Given the description of an element on the screen output the (x, y) to click on. 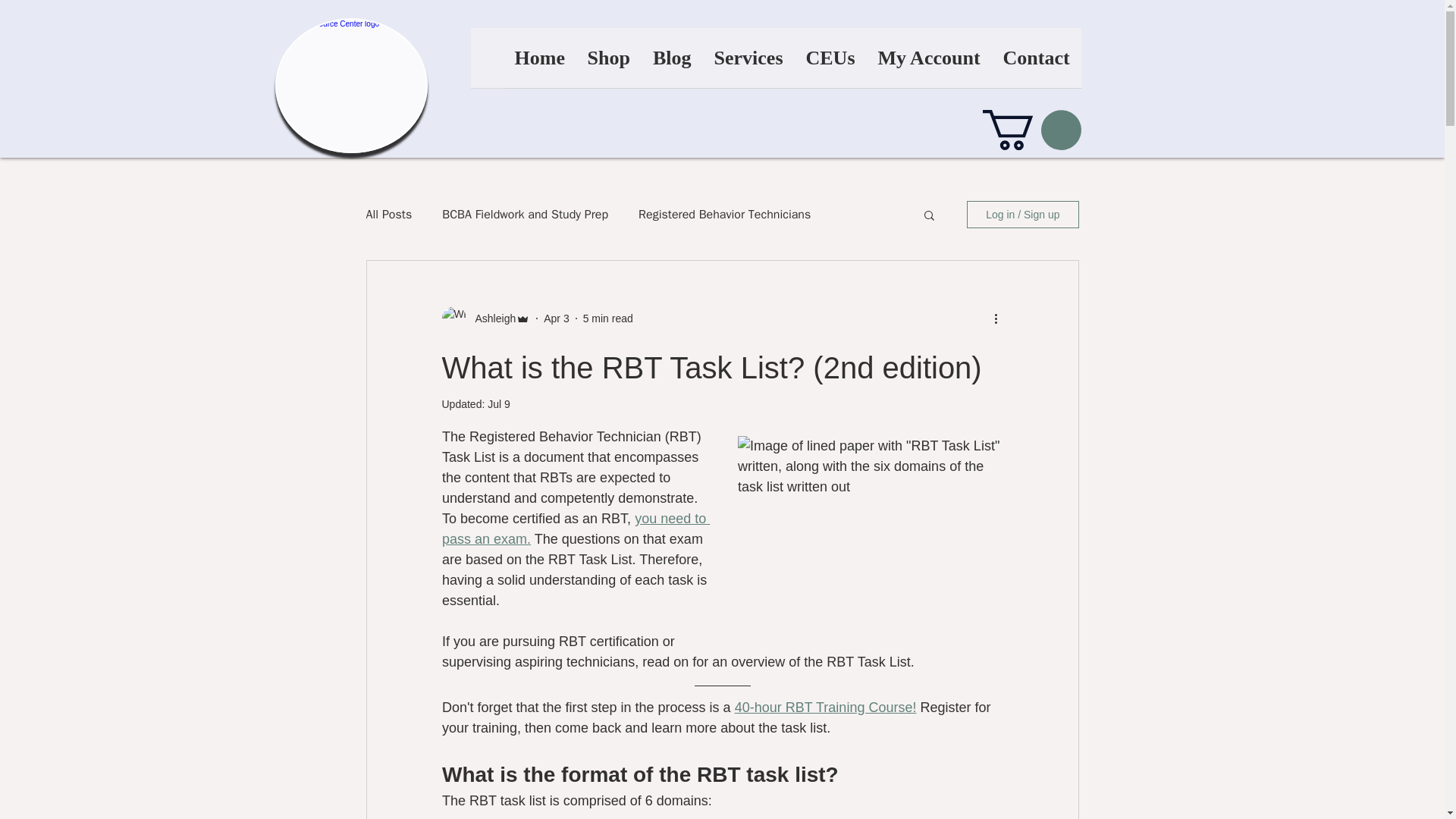
Services (747, 62)
My Account (928, 62)
you need to pass an exam. (575, 529)
Apr 3 (556, 318)
Registered Behavior Technicians (724, 213)
Contact (1036, 62)
40-hour RBT Training Course! (824, 707)
Ashleigh (490, 318)
BCBA Fieldwork and Study Prep (525, 213)
CEUs (830, 62)
